Given the description of an element on the screen output the (x, y) to click on. 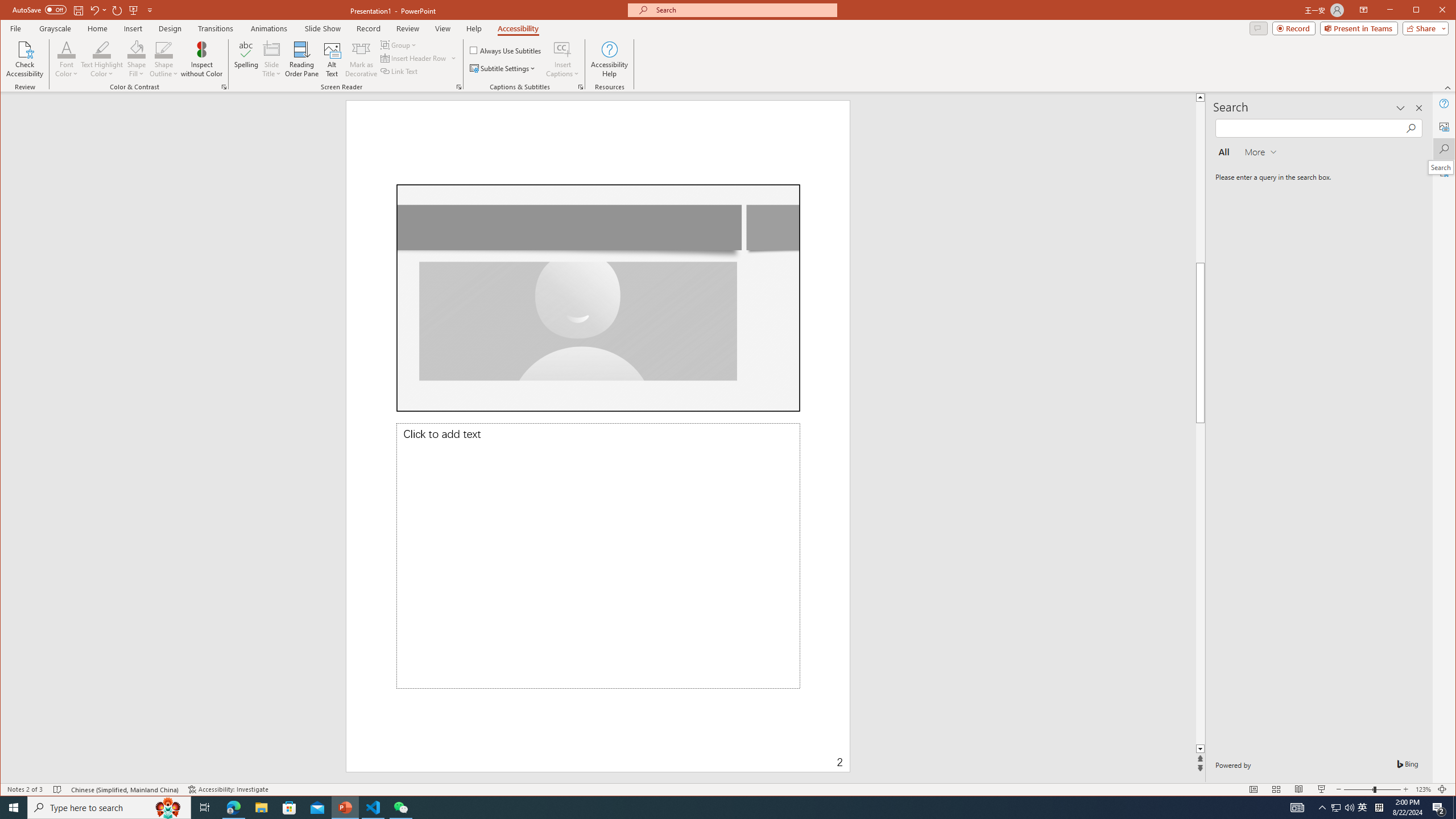
Alt Text (1444, 125)
Inspect without Color (201, 59)
Color & Contrast (223, 86)
Microsoft Edge - 1 running window (233, 807)
